Given the description of an element on the screen output the (x, y) to click on. 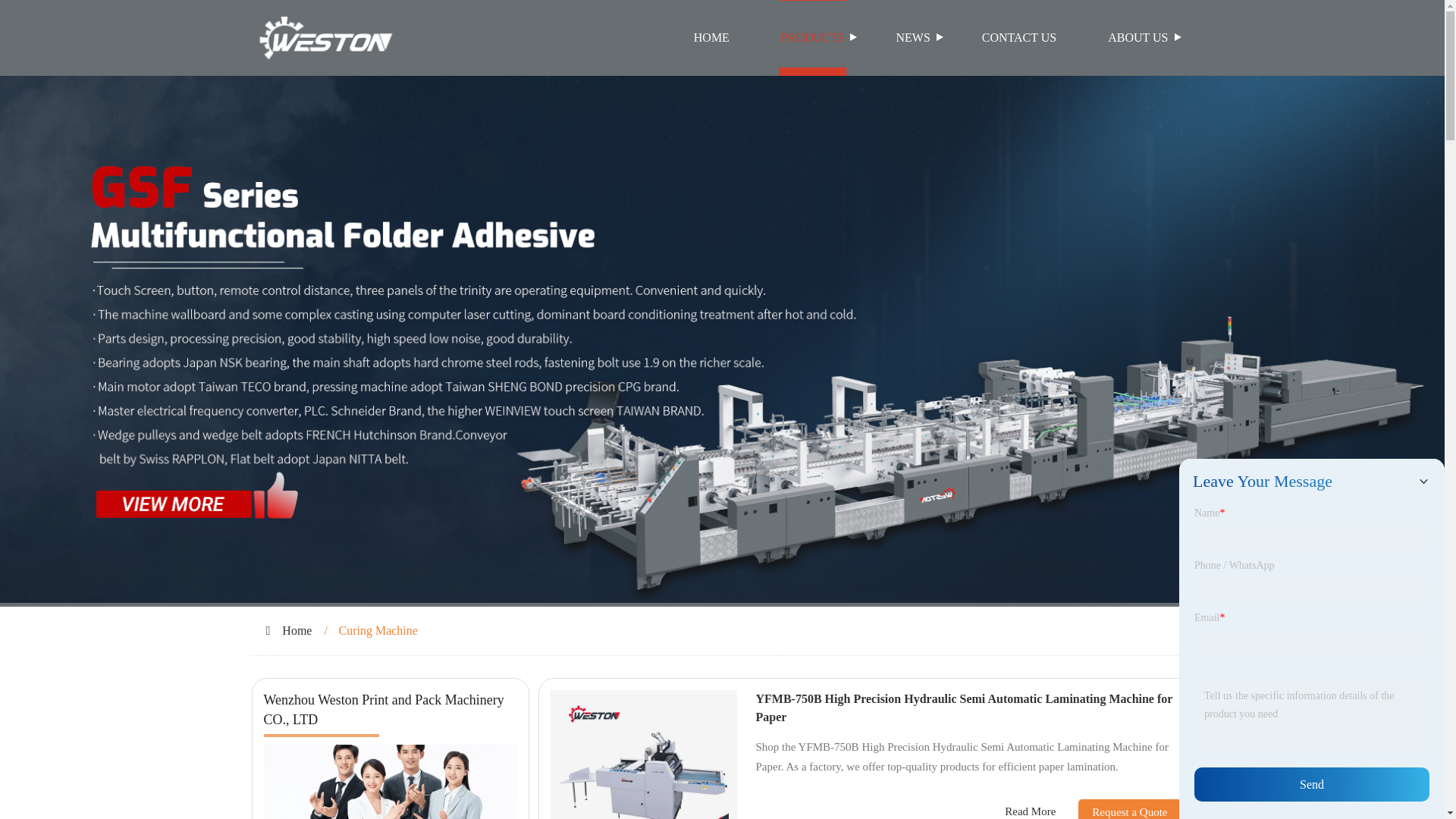
CONTACT US (1018, 38)
Read More (1029, 811)
Request a Quote (1117, 809)
Home (296, 630)
PRODUCTS (812, 38)
